Given the description of an element on the screen output the (x, y) to click on. 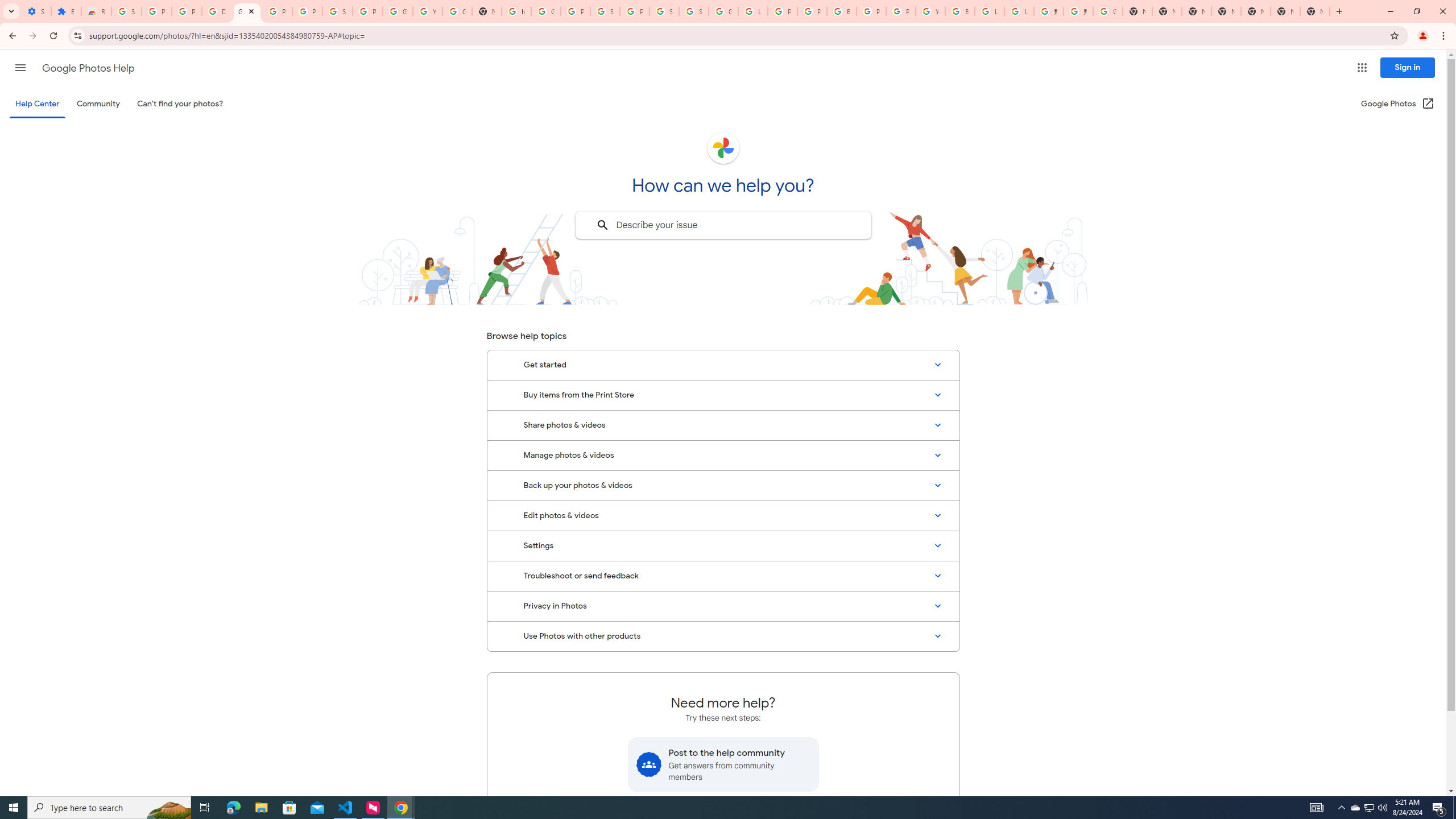
Reviews: Helix Fruit Jump Arcade Game (95, 11)
Community (97, 103)
Describe your issue to find information that might help you. (722, 225)
Can't find your photos? (180, 103)
Sign in - Google Accounts (693, 11)
Troubleshoot or send feedback (722, 576)
